Given the description of an element on the screen output the (x, y) to click on. 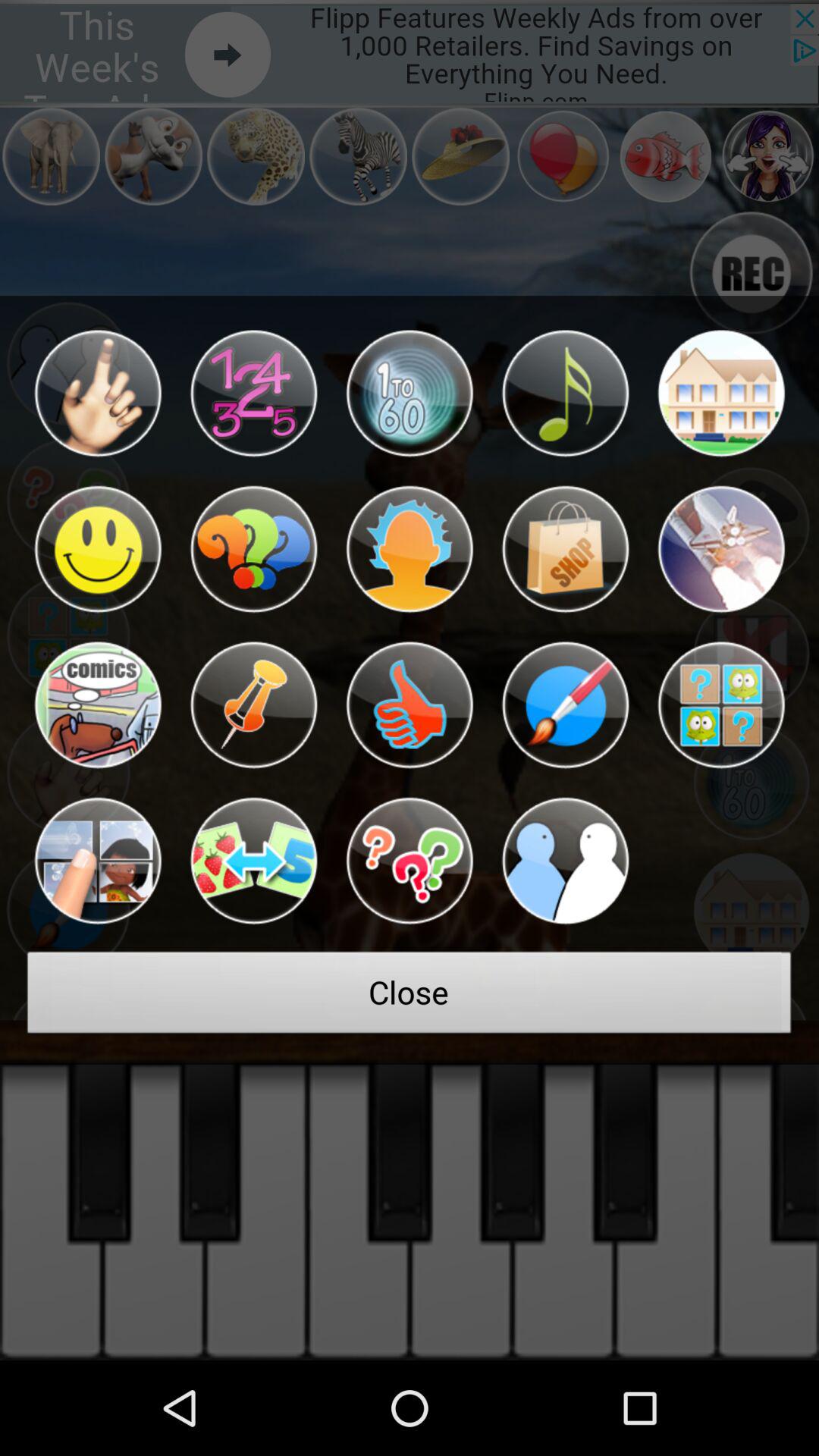
click on house rate (721, 393)
